Given the description of an element on the screen output the (x, y) to click on. 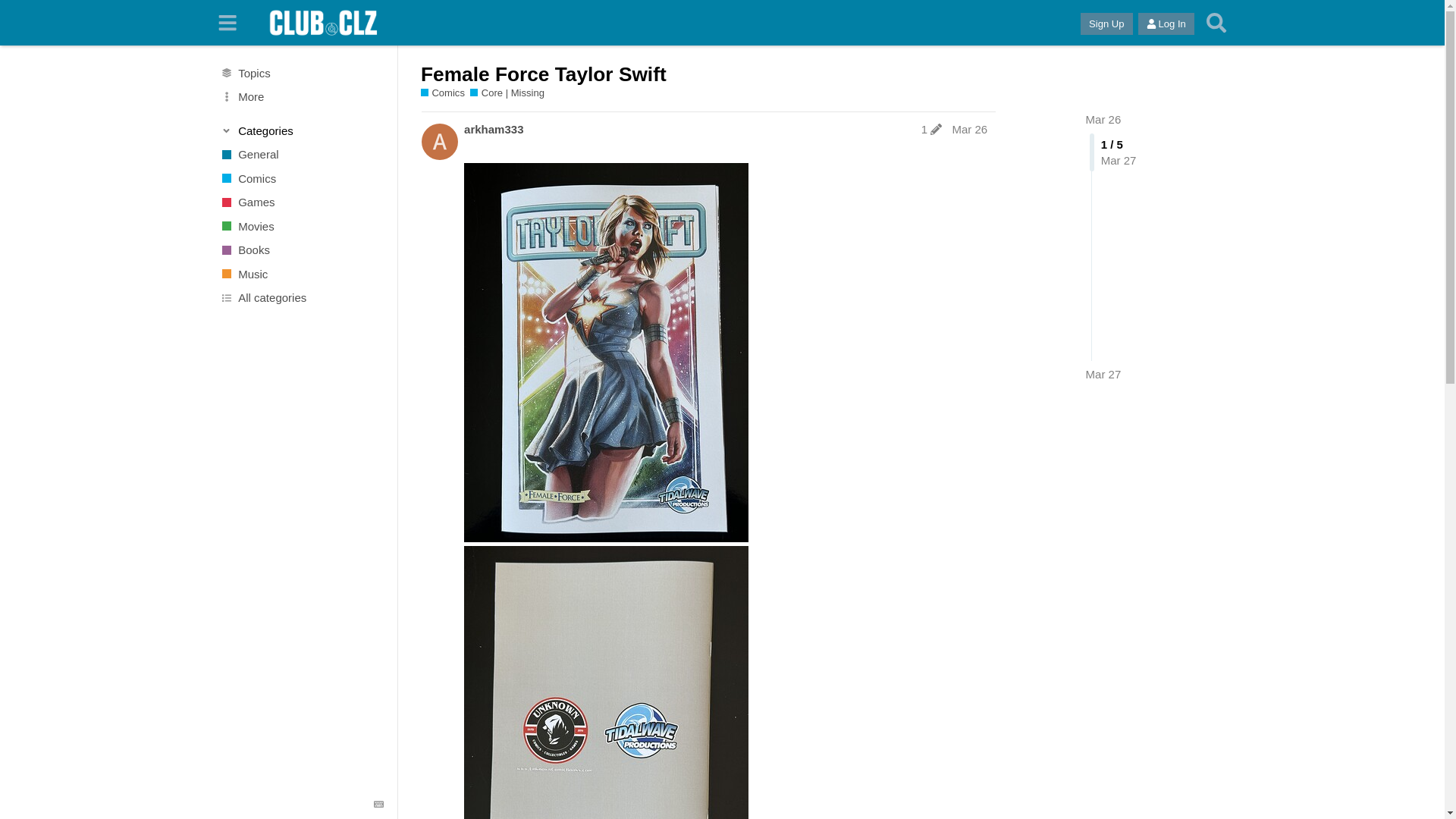
Mar 26 (1103, 119)
Post date (969, 128)
Search (1215, 22)
Sign Up (1106, 24)
post last edited on Mar 27, 2024 1:56 pm (931, 128)
Female Force Taylor Swift (543, 74)
Mar 26 (969, 128)
Sidebar (227, 22)
All topics (301, 72)
Movies (301, 225)
